Given the description of an element on the screen output the (x, y) to click on. 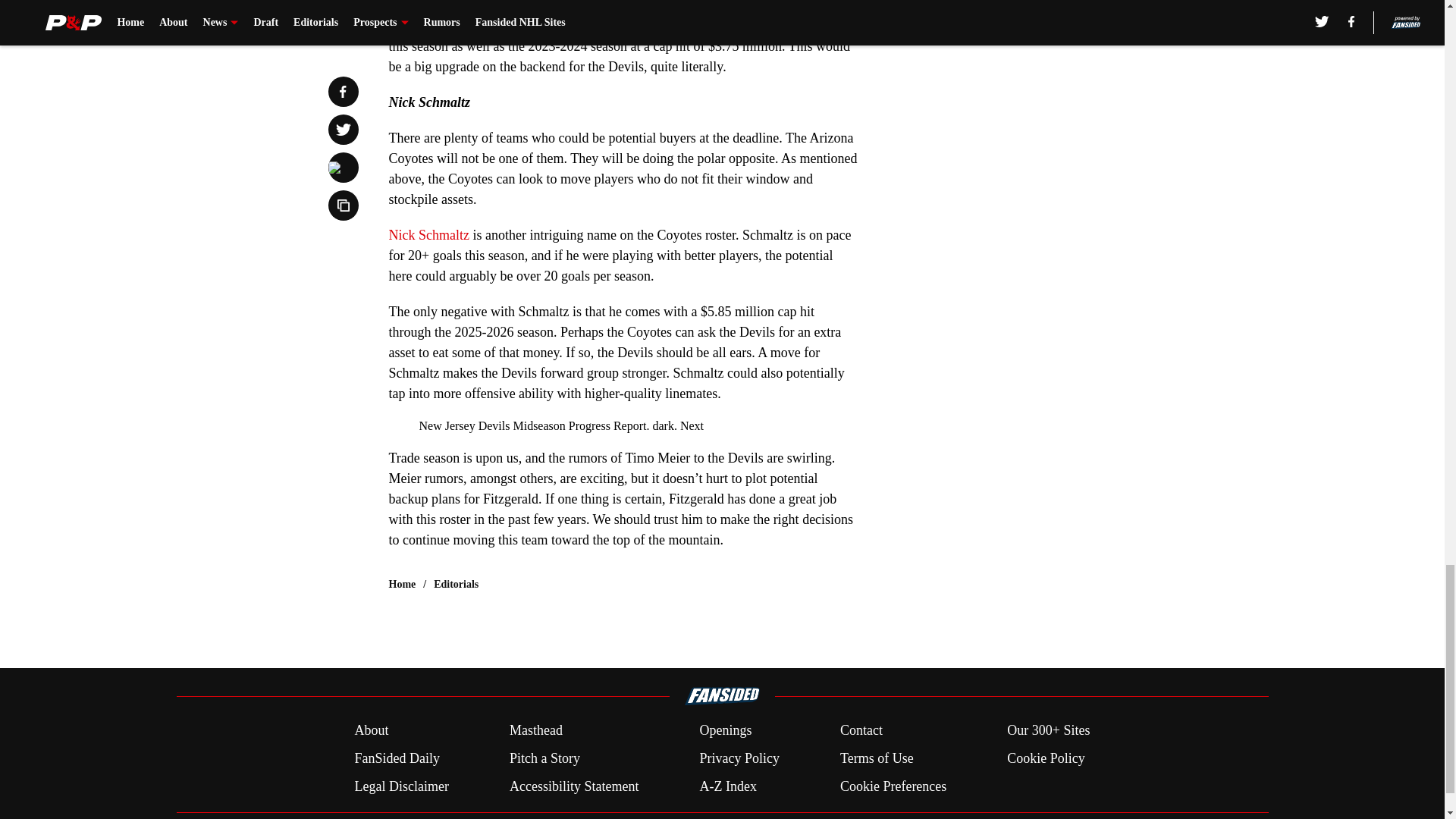
Editorials (456, 584)
Nick Schmaltz (428, 234)
Home (401, 584)
About (370, 730)
Openings (724, 730)
Contact (861, 730)
Pitch a Story (544, 758)
Masthead (535, 730)
FanSided Daily (396, 758)
